Given the description of an element on the screen output the (x, y) to click on. 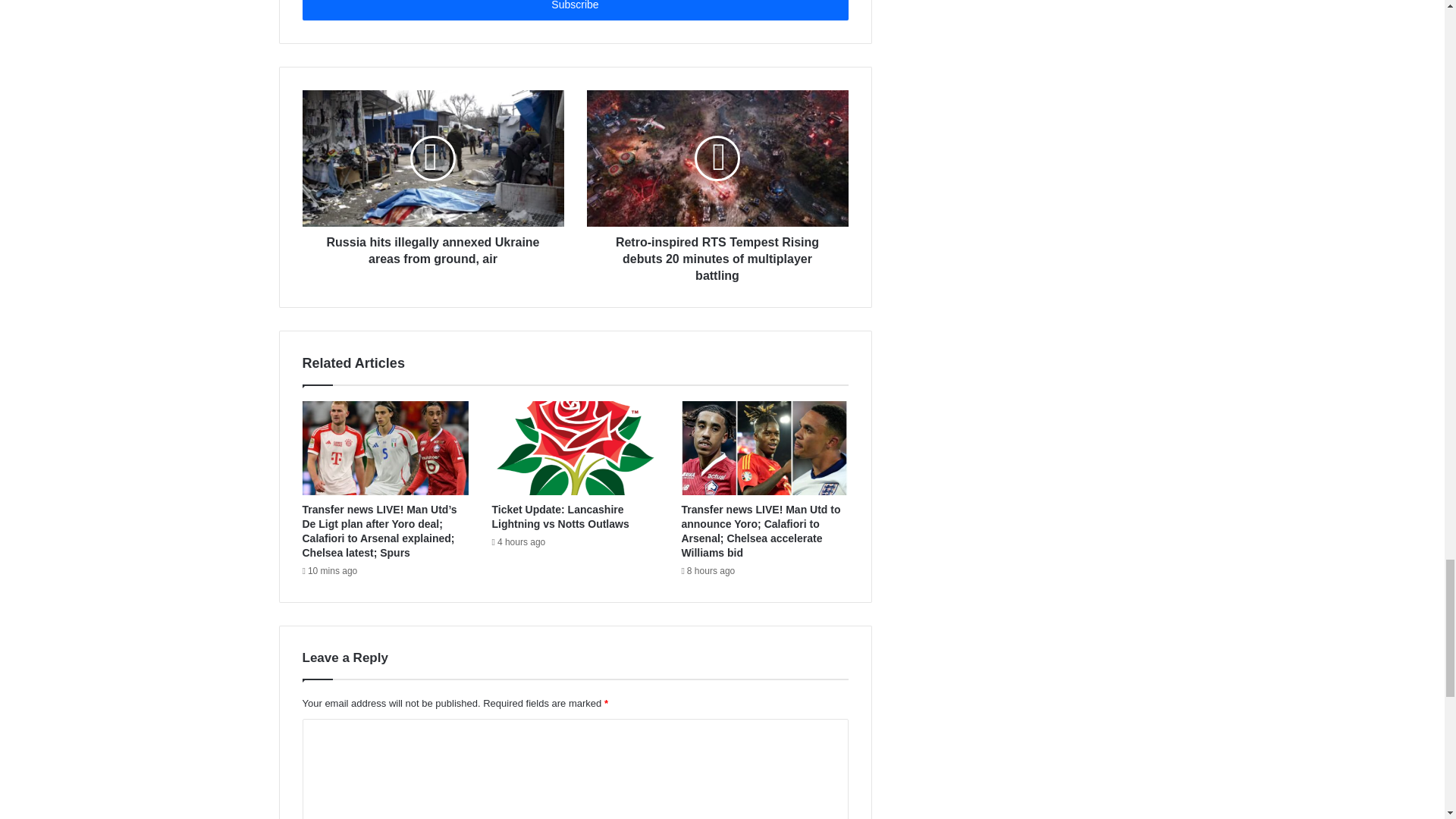
Subscribe (574, 10)
